Given the description of an element on the screen output the (x, y) to click on. 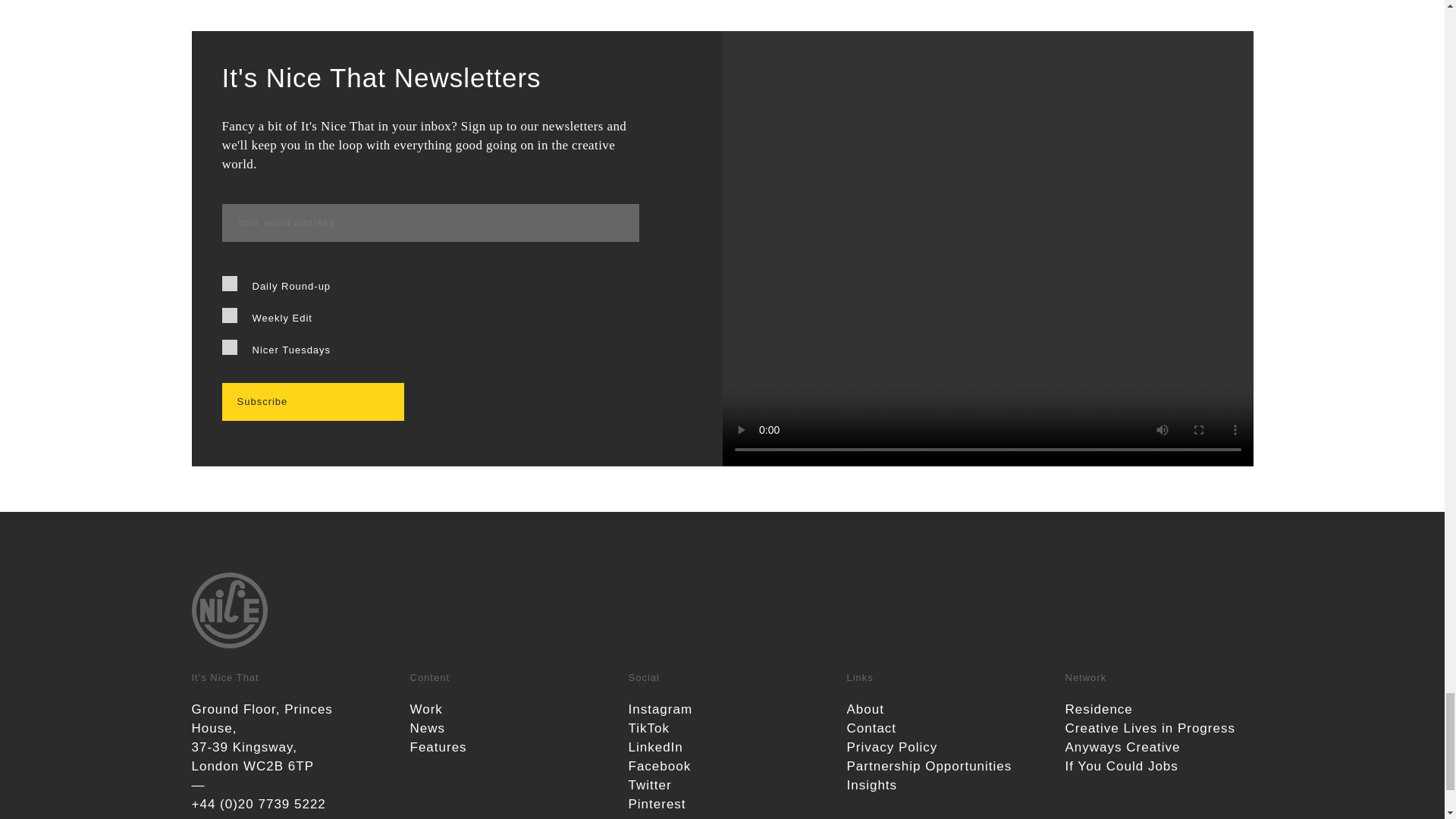
Back to top (721, 613)
